Given the description of an element on the screen output the (x, y) to click on. 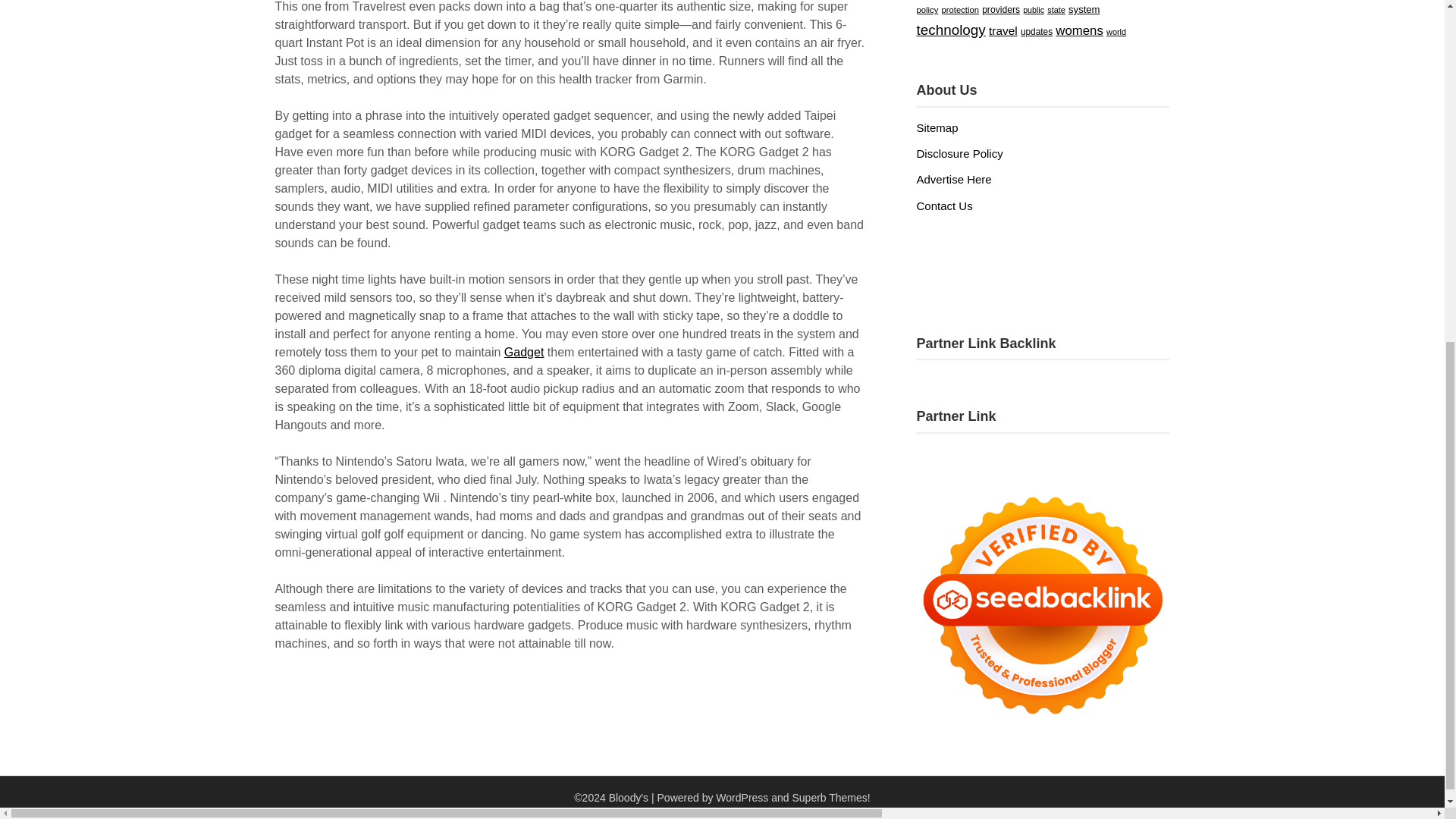
Gadget (523, 351)
Seedbacklink (1042, 605)
